Given the description of an element on the screen output the (x, y) to click on. 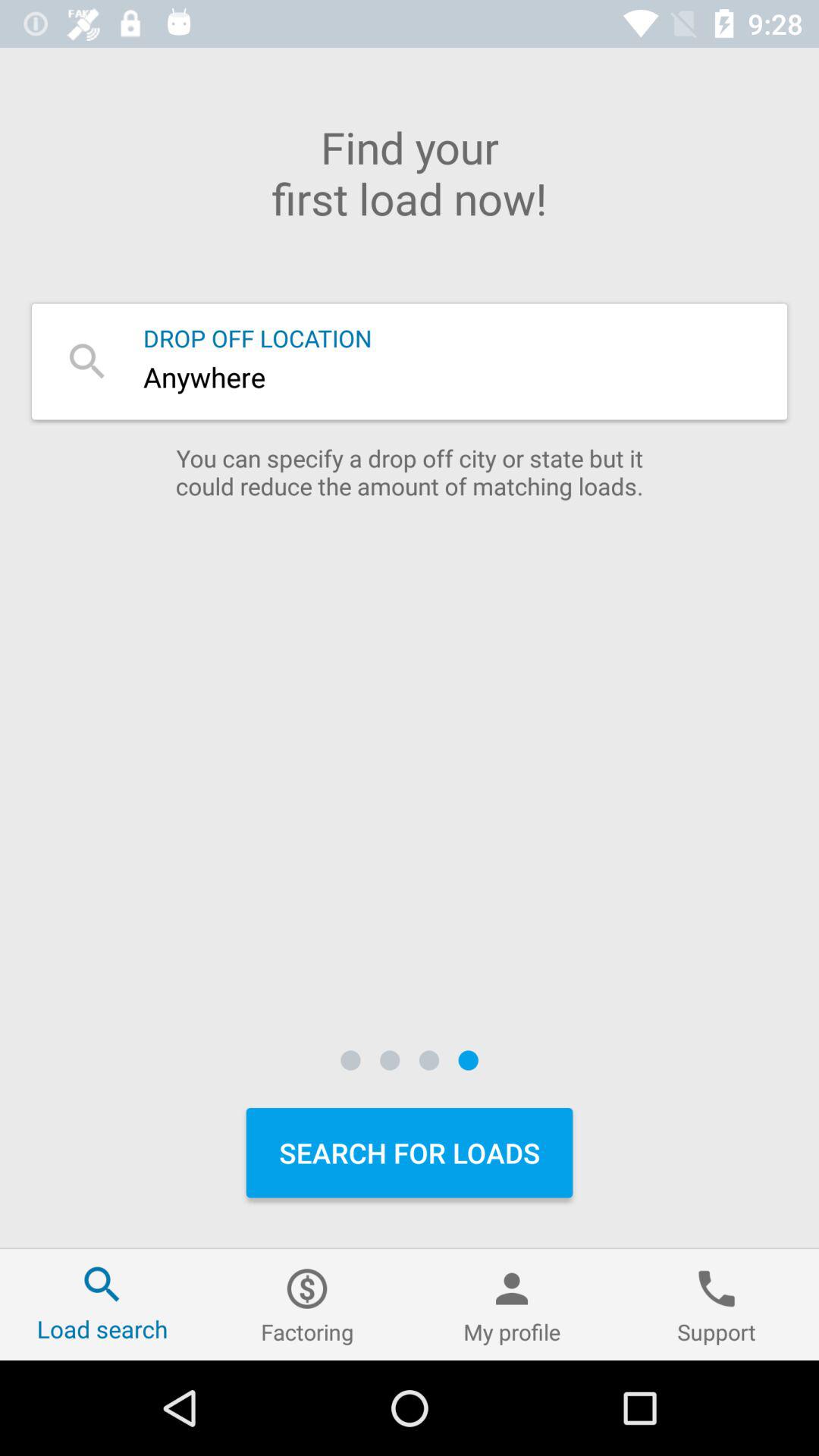
turn on the item to the left of the factoring item (102, 1304)
